Given the description of an element on the screen output the (x, y) to click on. 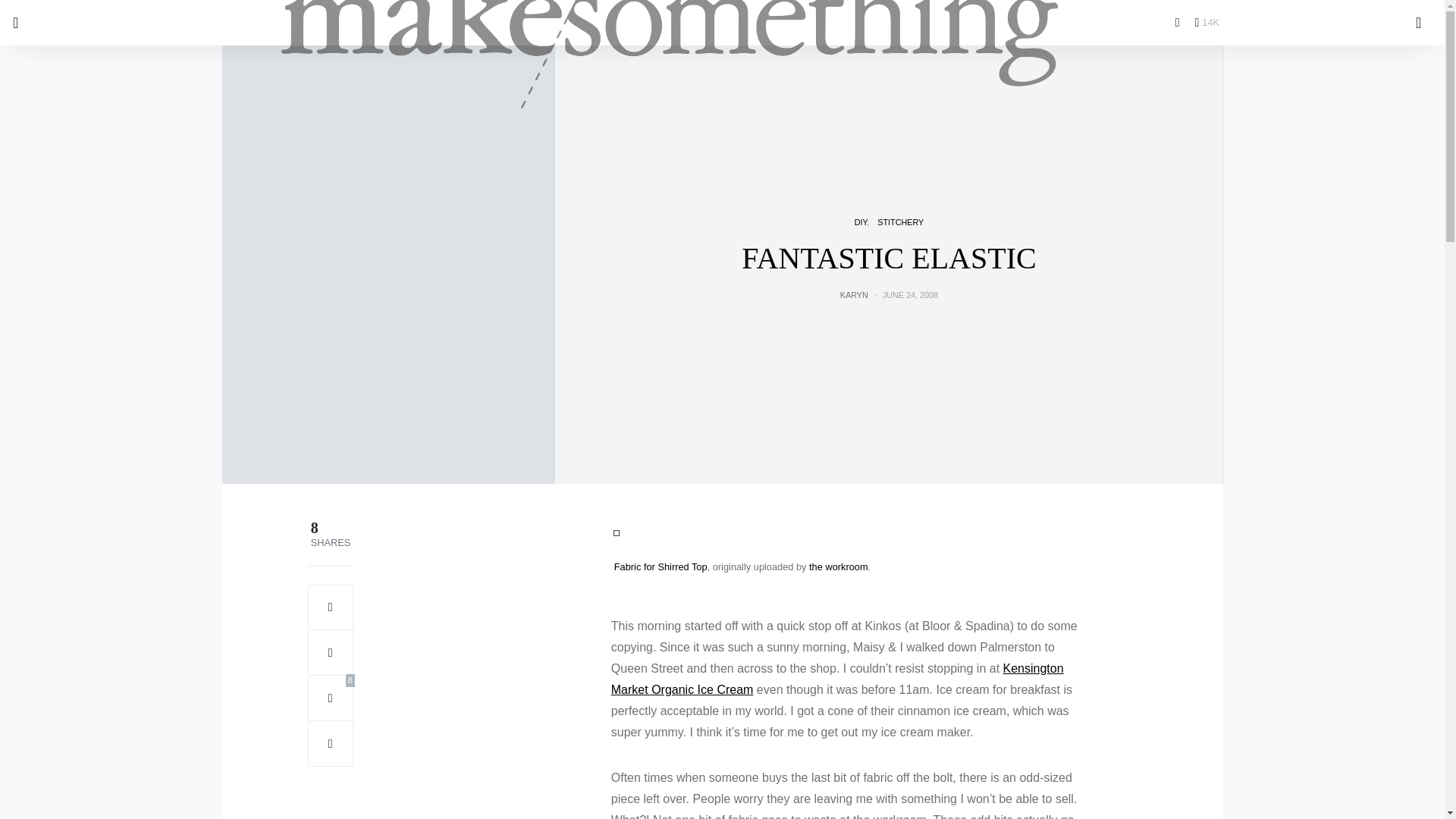
Kensington Market Organic Ice Cream (837, 677)
8 (330, 698)
STITCHERY (900, 221)
DIY (860, 221)
the workroom (838, 566)
Fabric for Shirred Top (660, 566)
KARYN (853, 295)
14K (1206, 22)
View all posts by Karyn (853, 295)
